Given the description of an element on the screen output the (x, y) to click on. 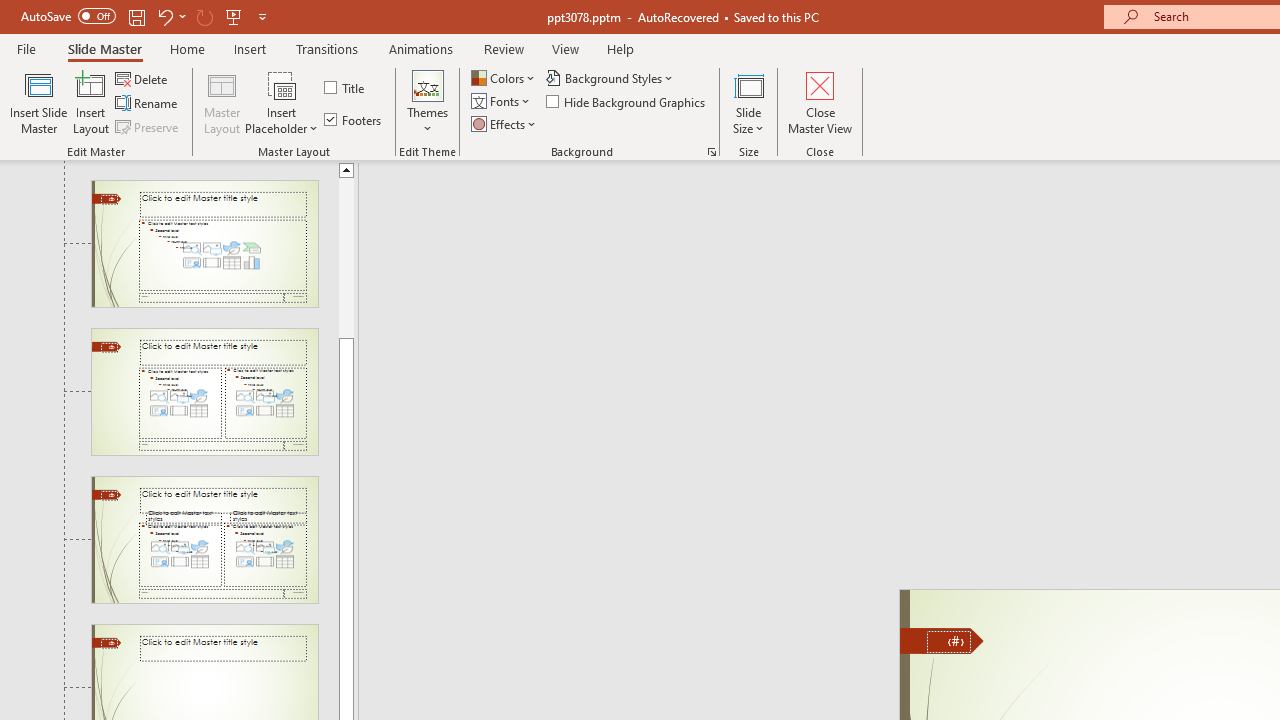
Slide Comparison Layout: used by no slides (204, 539)
Slide Two Content Layout: used by no slides (204, 392)
Slide Master (104, 48)
Insert Slide Master (38, 102)
Title (346, 87)
